Given the description of an element on the screen output the (x, y) to click on. 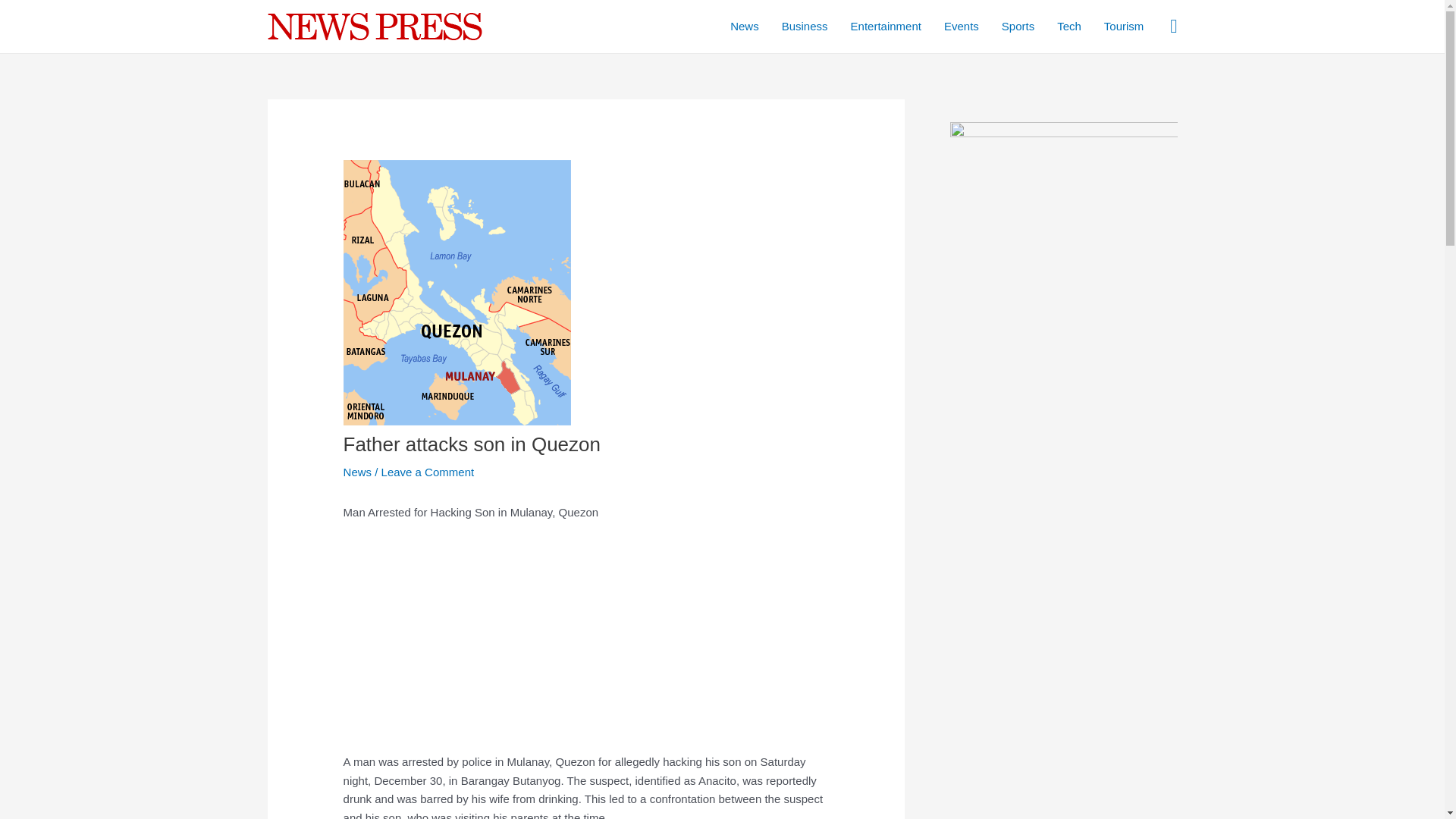
Business (805, 26)
Tourism (1124, 26)
Entertainment (886, 26)
Events (961, 26)
Leave a Comment (427, 472)
News (744, 26)
News (357, 472)
Sports (1017, 26)
